Given the description of an element on the screen output the (x, y) to click on. 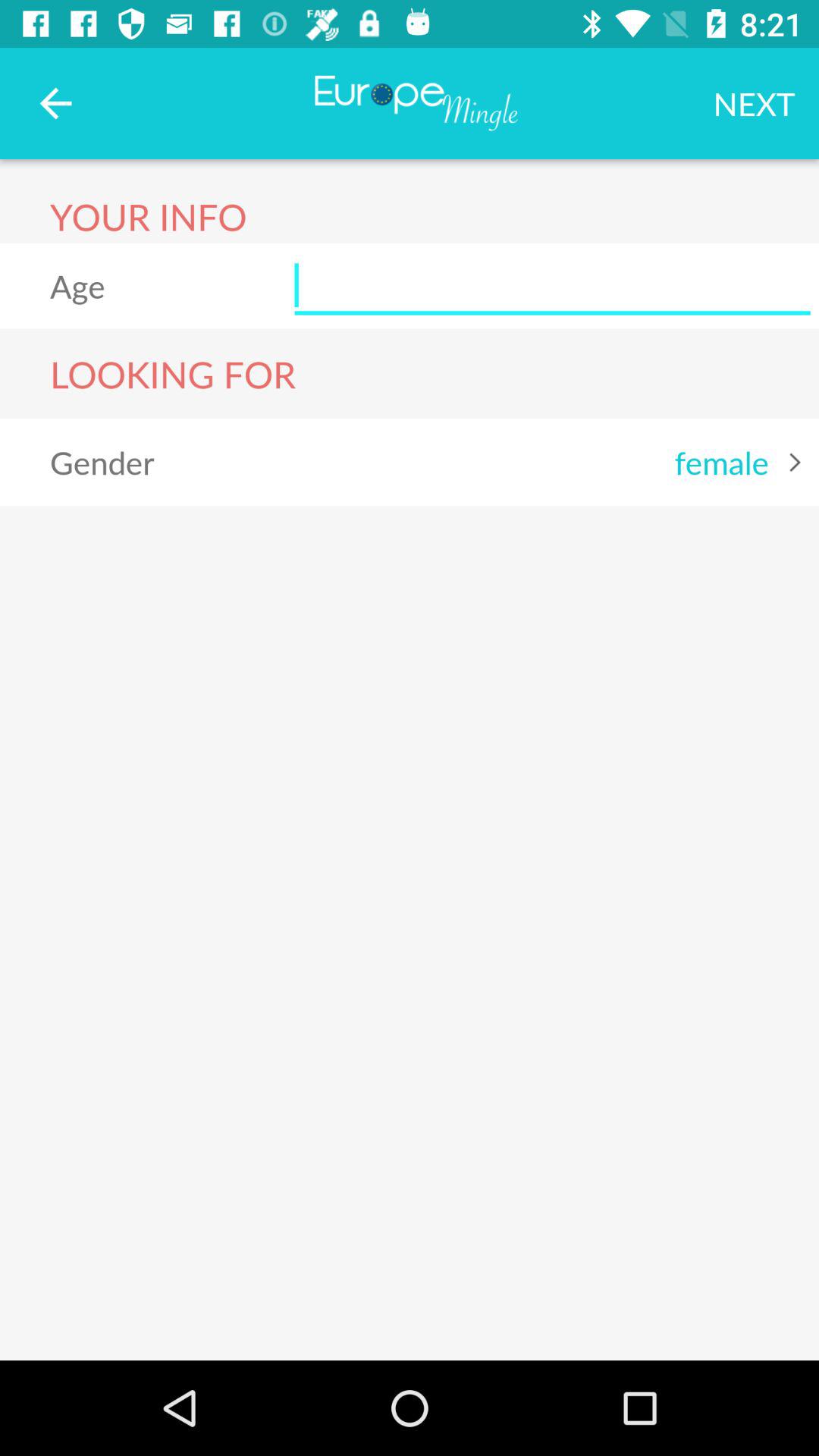
select icon below the next (552, 285)
